Given the description of an element on the screen output the (x, y) to click on. 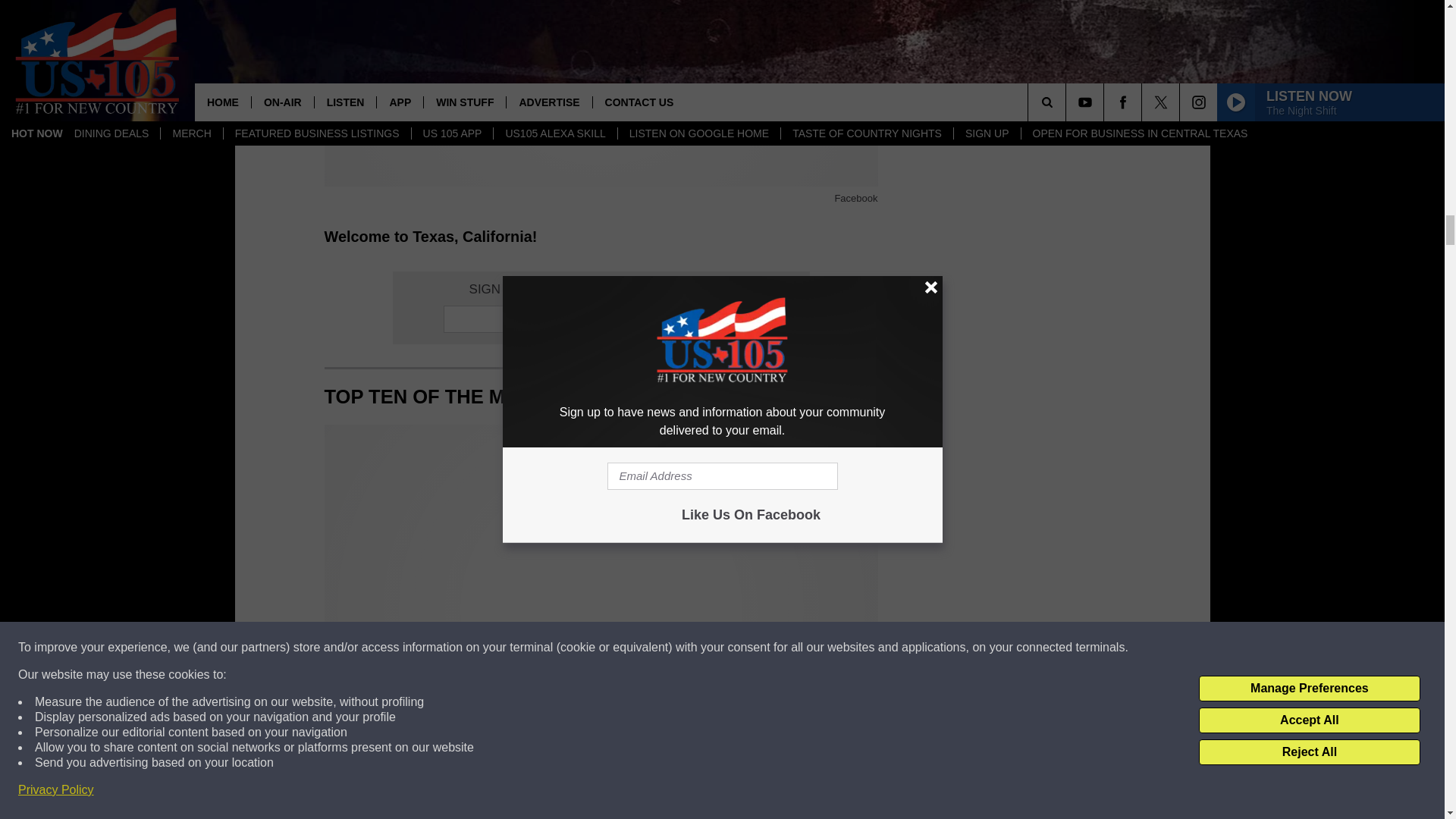
Email Address (600, 318)
